Given the description of an element on the screen output the (x, y) to click on. 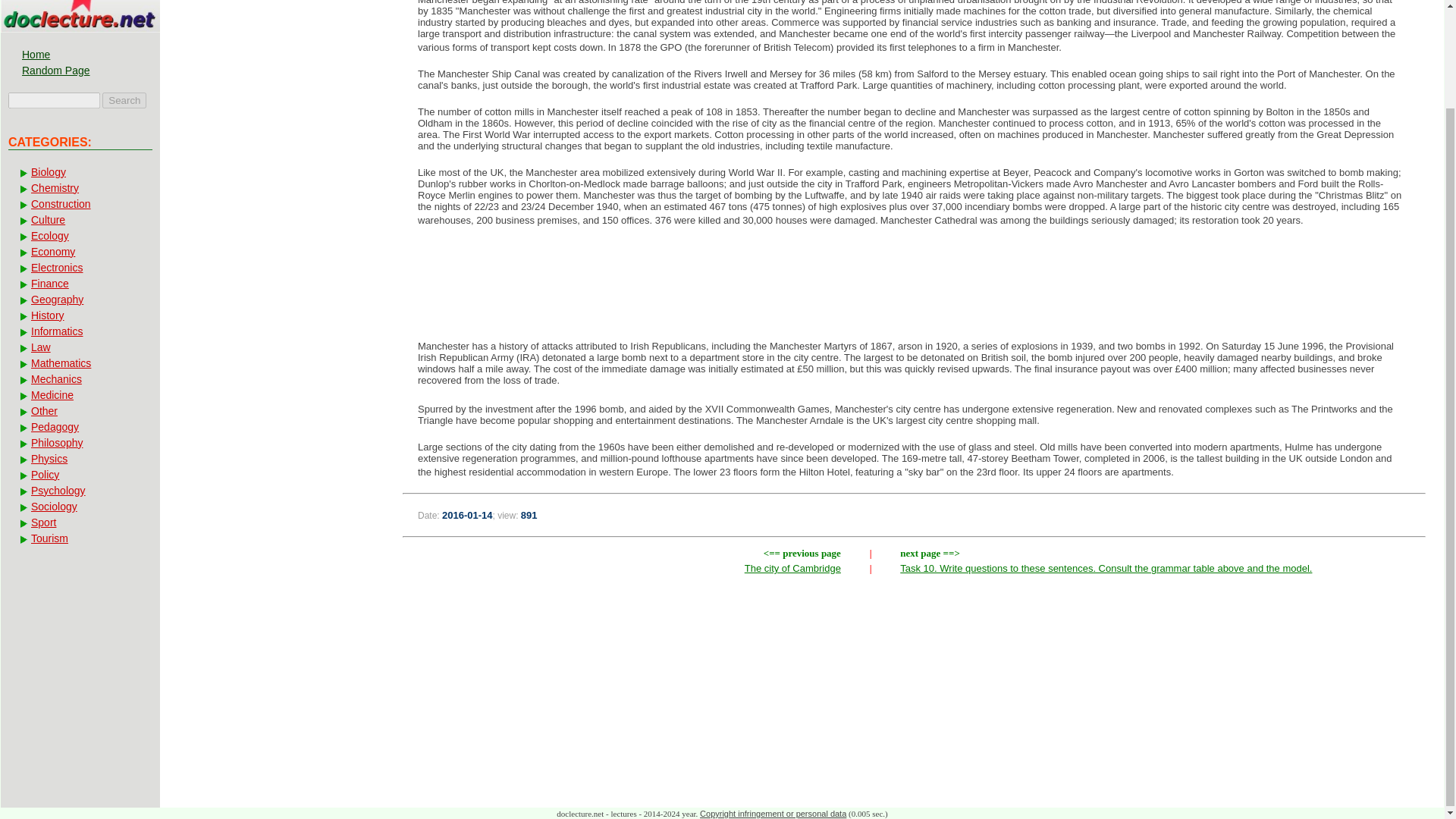
Other (79, 410)
Biology (79, 172)
Ecology (79, 235)
Search (124, 100)
Physics (79, 459)
Mechanics (79, 378)
Advertisement (802, 698)
Advertisement (915, 287)
Medicine (79, 395)
Sport (79, 522)
Chemistry (79, 187)
Finance (79, 283)
Copyright infringement or personal data (772, 813)
Search (124, 100)
